Given the description of an element on the screen output the (x, y) to click on. 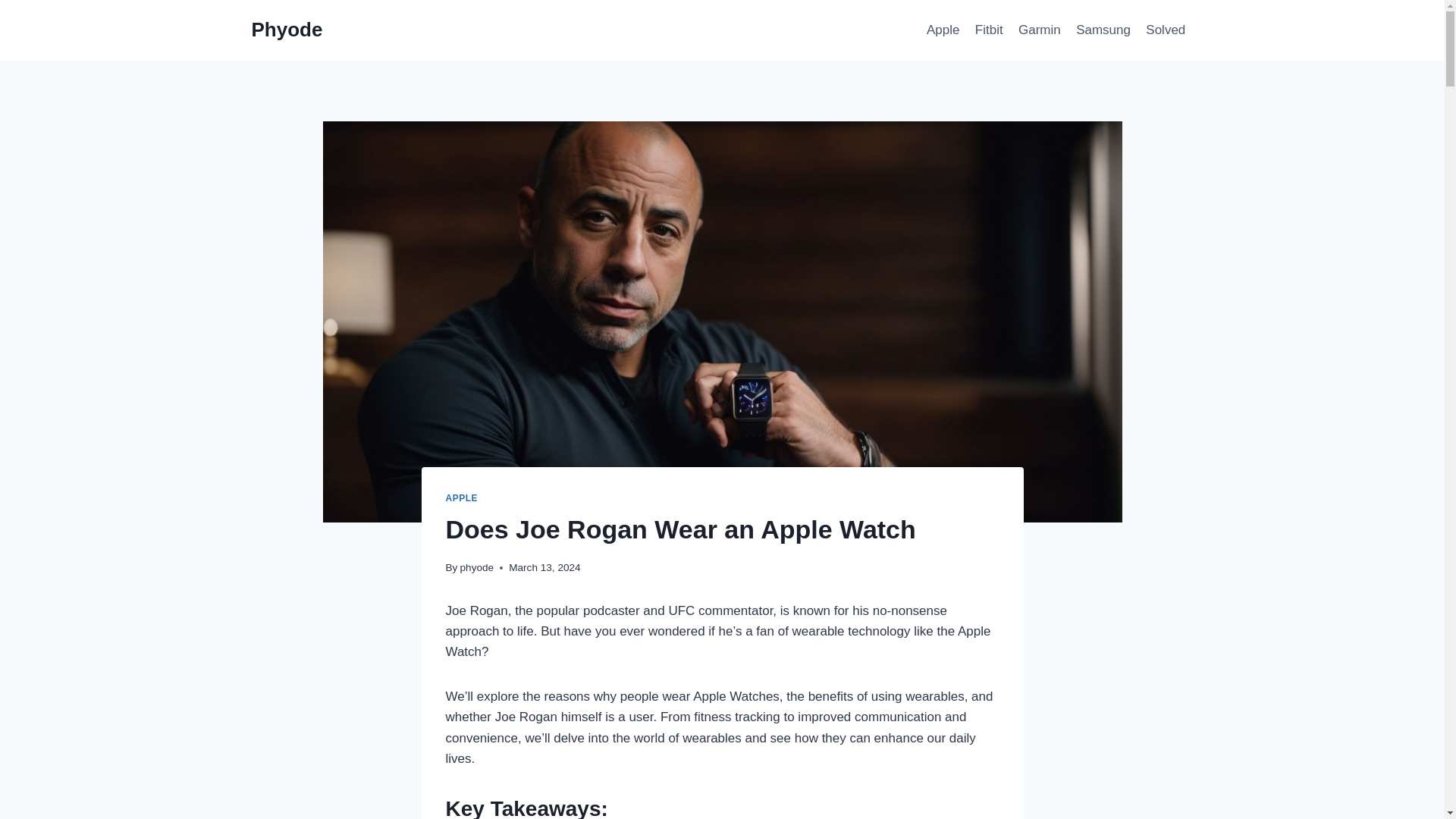
Phyode (287, 29)
APPLE (462, 498)
Solved (1165, 30)
Samsung (1103, 30)
Apple (943, 30)
Fitbit (989, 30)
Garmin (1039, 30)
phyode (477, 567)
